Given the description of an element on the screen output the (x, y) to click on. 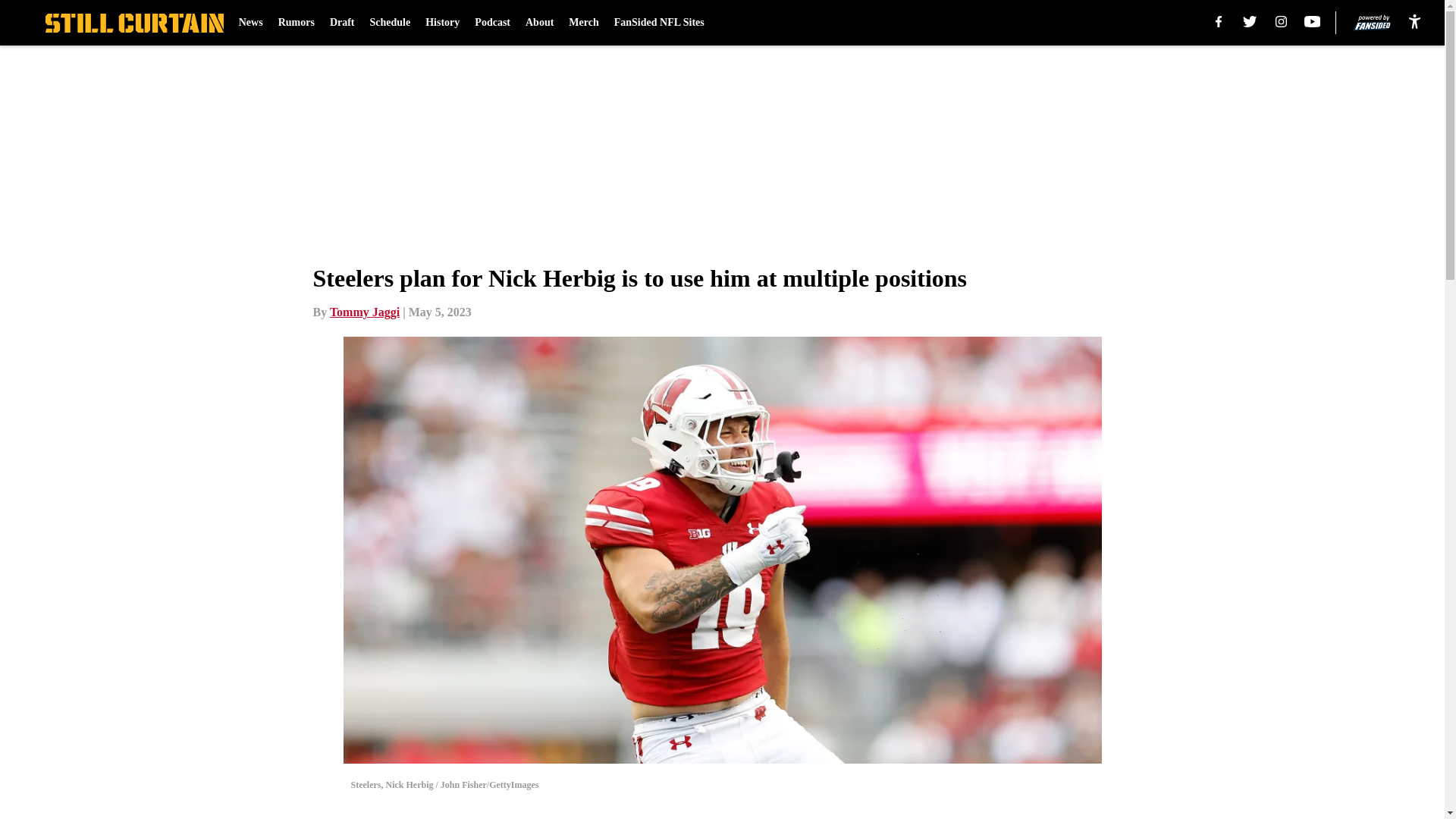
Draft (342, 22)
History (442, 22)
Tommy Jaggi (364, 311)
Merch (583, 22)
Rumors (296, 22)
Schedule (389, 22)
News (250, 22)
About (539, 22)
Podcast (492, 22)
